Given the description of an element on the screen output the (x, y) to click on. 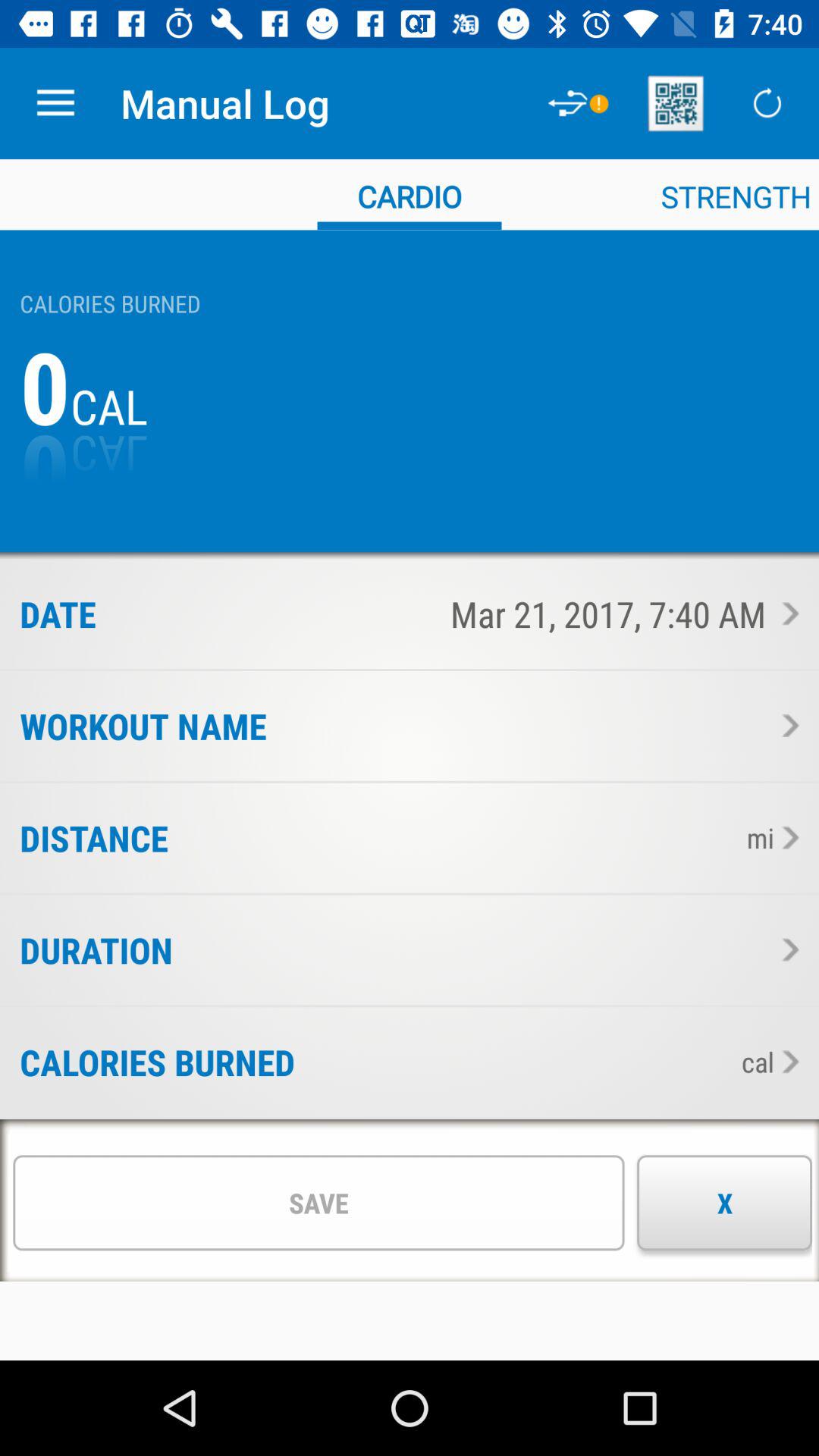
scroll until x (724, 1202)
